Given the description of an element on the screen output the (x, y) to click on. 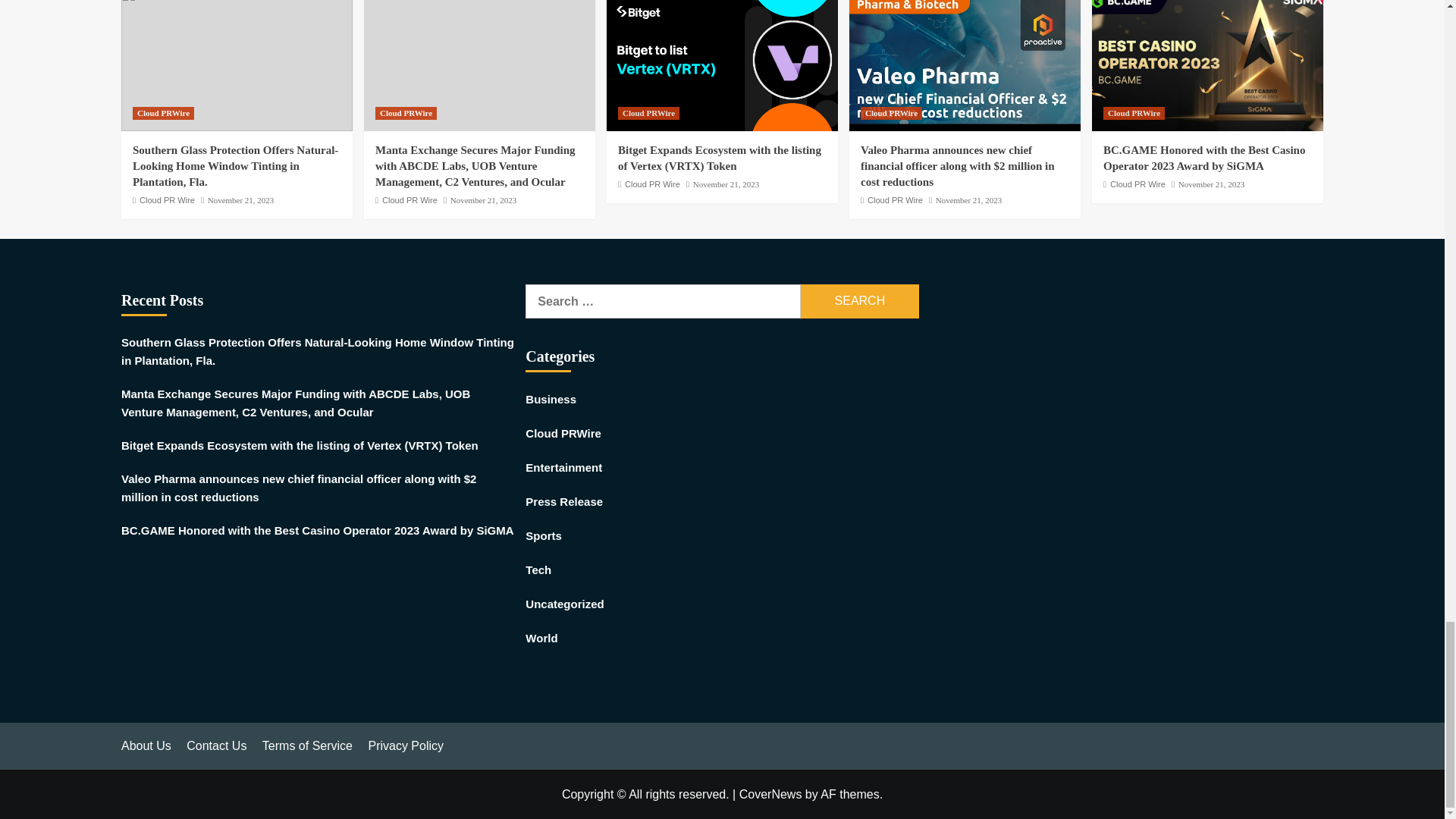
Search (859, 301)
Search (859, 301)
